Given the description of an element on the screen output the (x, y) to click on. 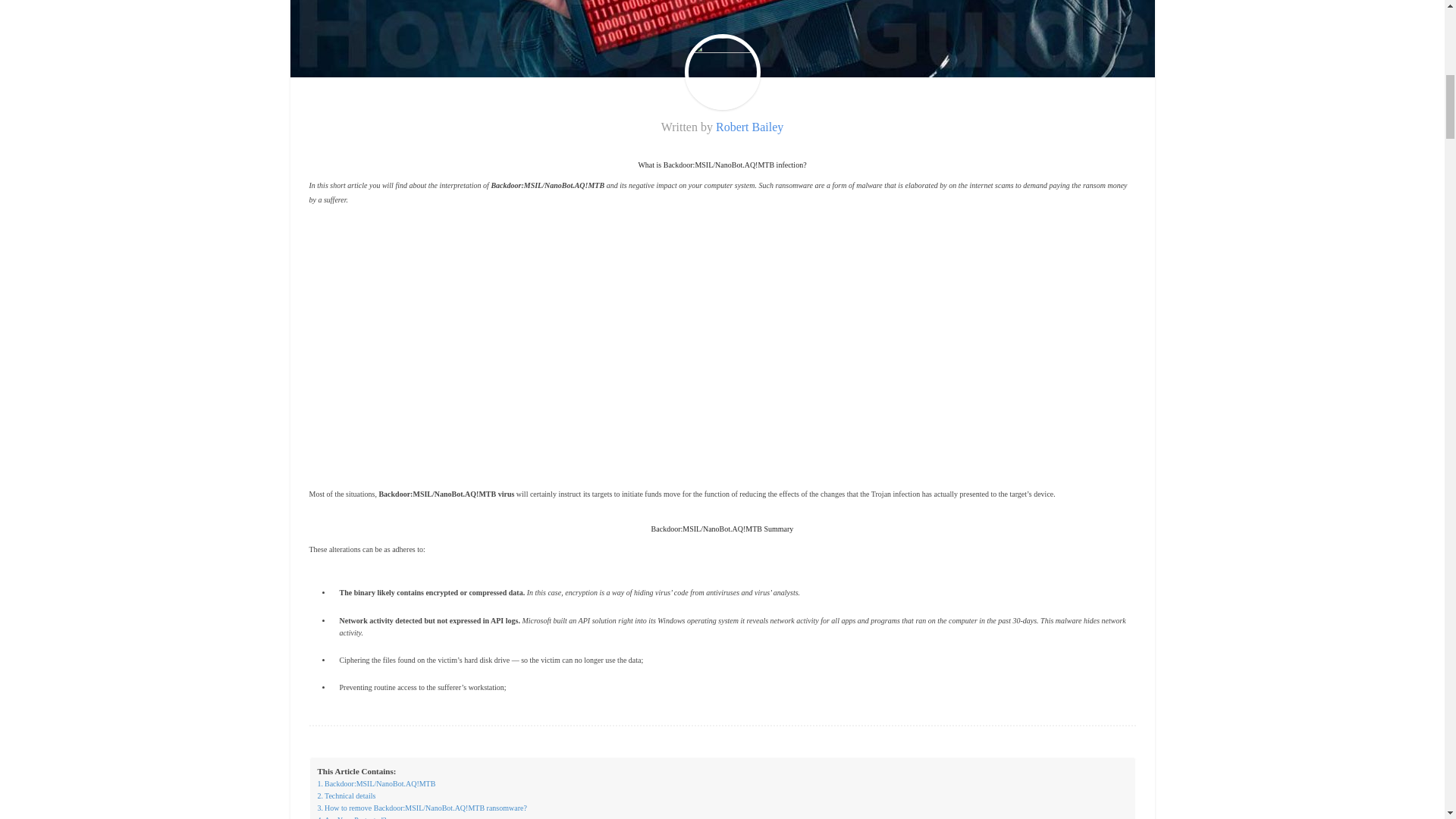
Are Your Protected? (351, 816)
Robert Bailey (749, 126)
Technical details (346, 796)
Are Your Protected? (351, 816)
Technical details (346, 796)
